Given the description of an element on the screen output the (x, y) to click on. 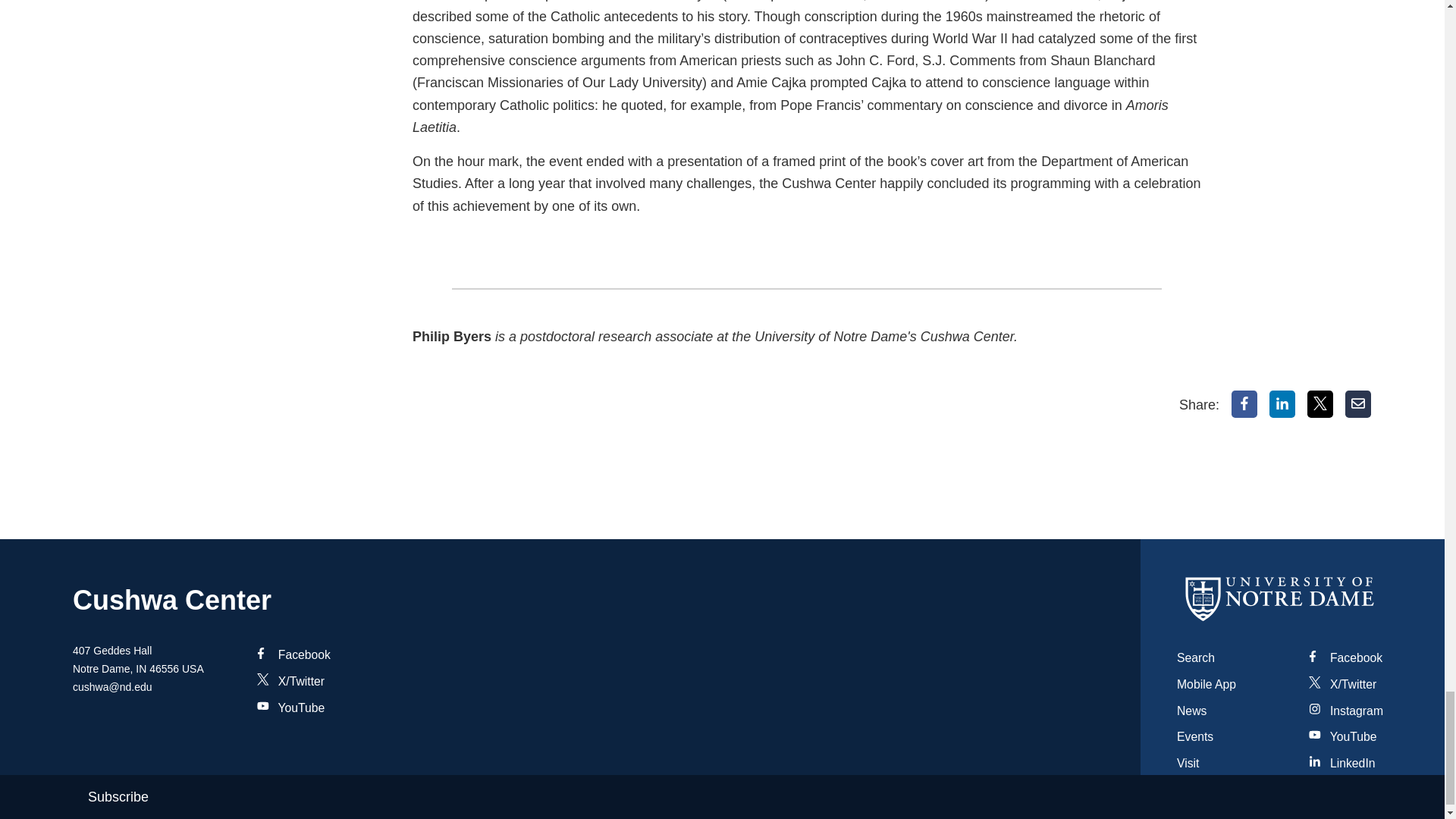
Facebook (1244, 403)
Email (1358, 403)
LinkedIn (1282, 403)
